Given the description of an element on the screen output the (x, y) to click on. 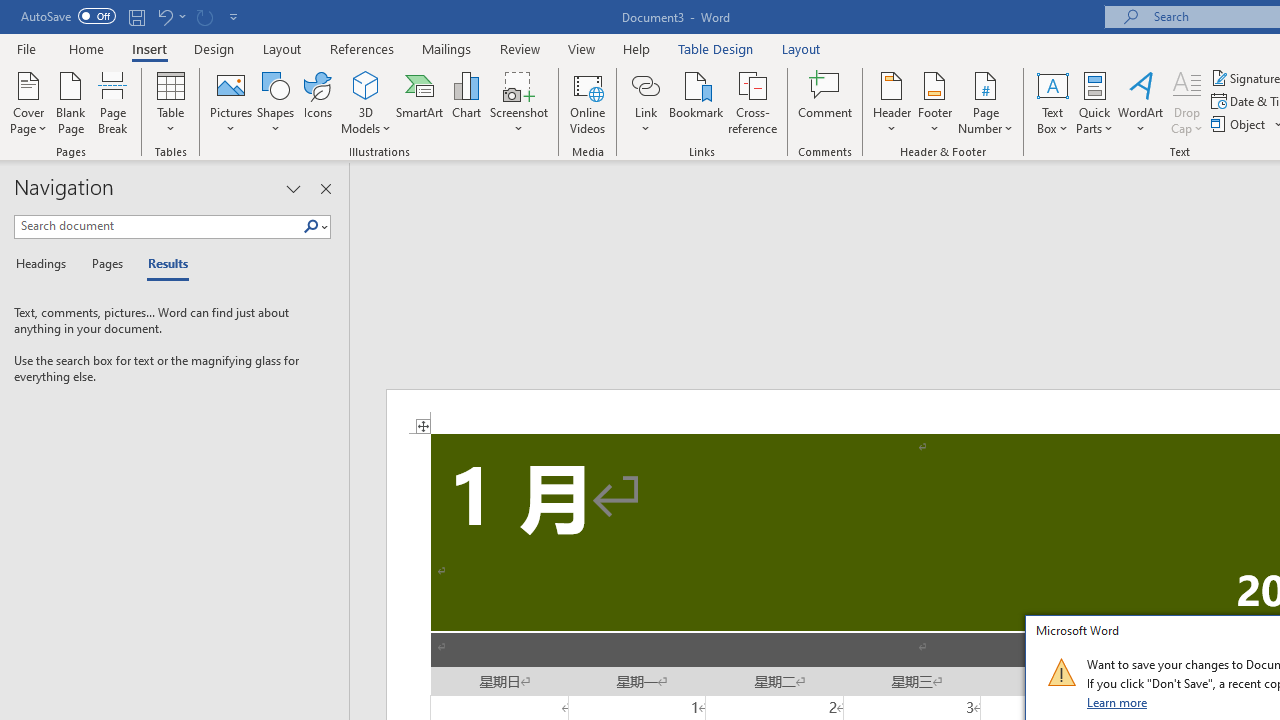
Quick Parts (1094, 102)
WordArt (1141, 102)
Icons (317, 102)
Comment (825, 102)
3D Models (366, 102)
Can't Repeat (204, 15)
